Given the description of an element on the screen output the (x, y) to click on. 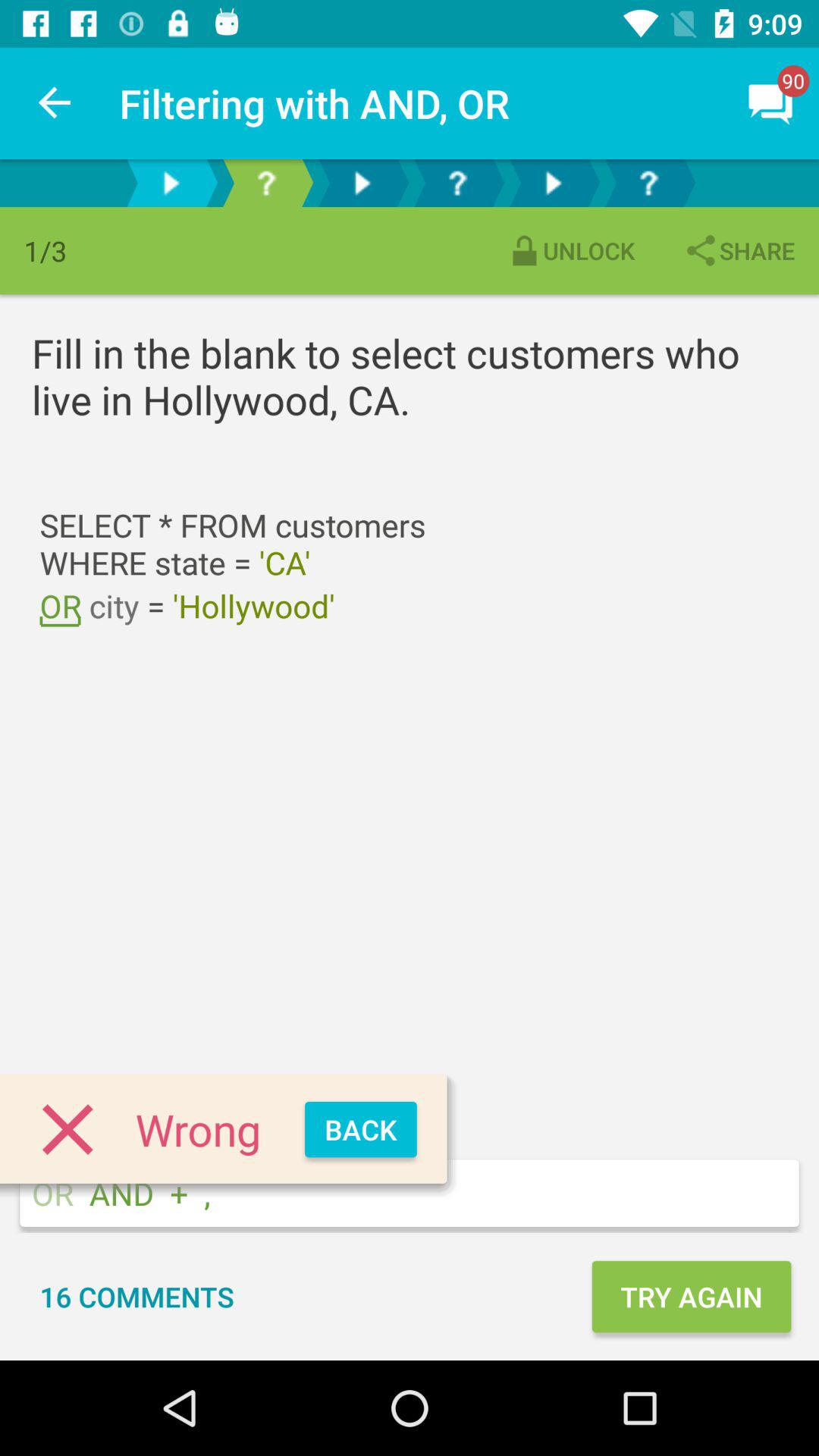
play or next (361, 183)
